Given the description of an element on the screen output the (x, y) to click on. 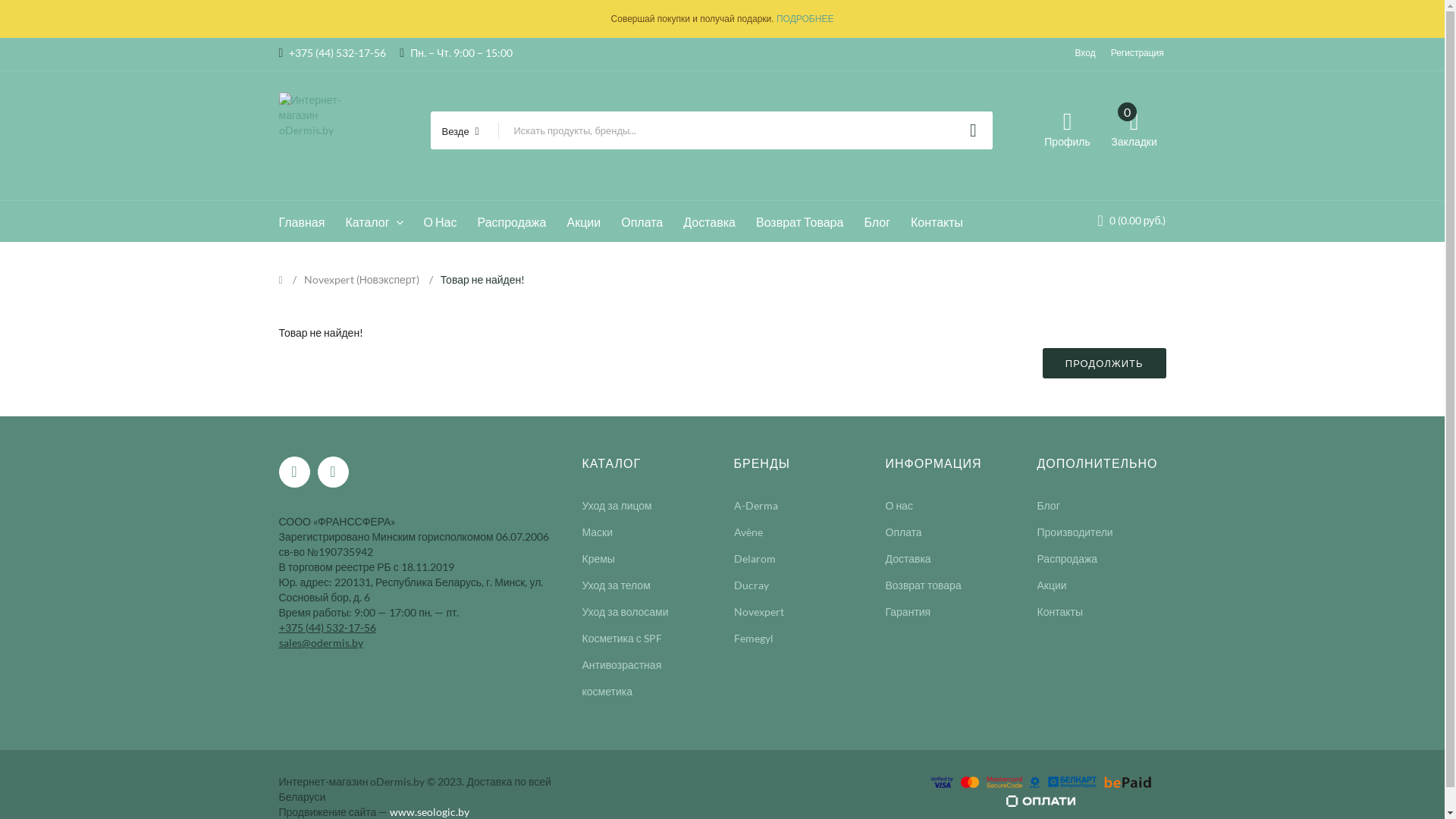
Femegyl Element type: text (753, 637)
Facebook Element type: text (294, 471)
sales@odermis.by Element type: text (321, 641)
Instagram Element type: text (332, 471)
+375 (44) 532-17-56 Element type: text (332, 52)
+375 (44) 532-17-56 Element type: text (327, 626)
A-Derma Element type: text (756, 504)
Novexpert Element type: text (759, 611)
Delarom Element type: text (754, 558)
Ducray Element type: text (751, 584)
www.seologic.by Element type: text (429, 811)
